Given the description of an element on the screen output the (x, y) to click on. 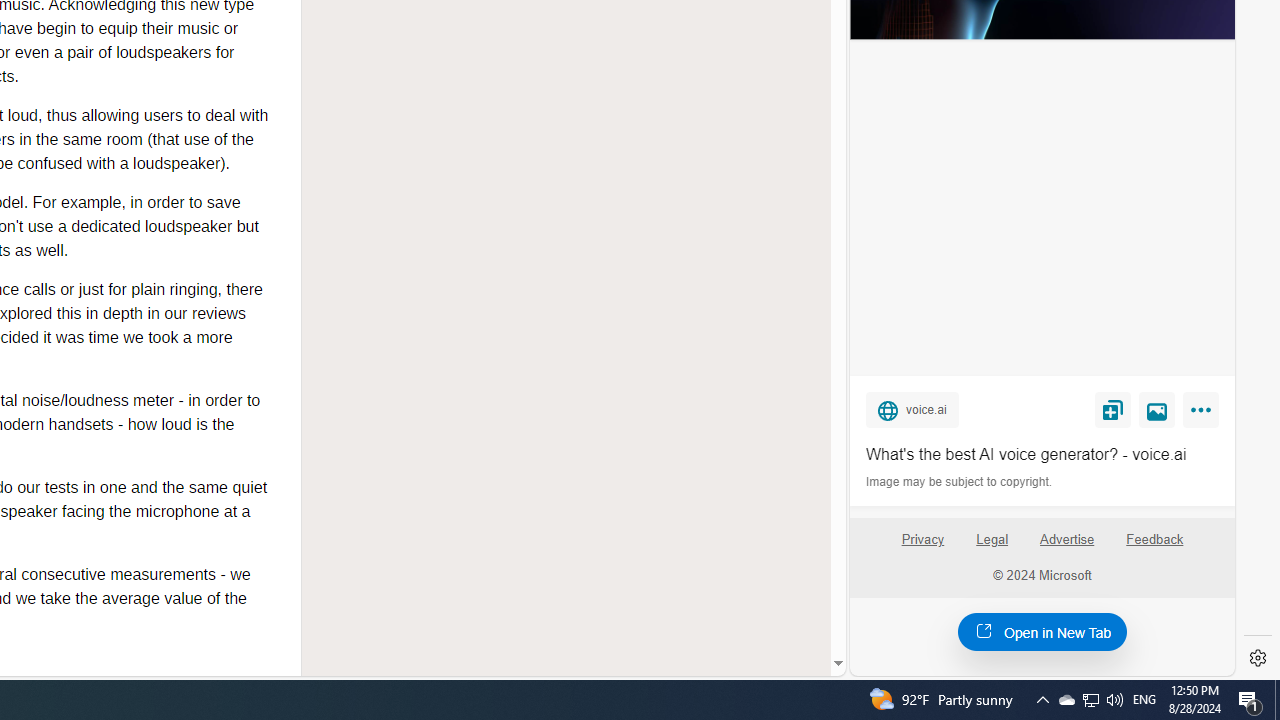
Privacy (922, 539)
More (1204, 413)
